Given the description of an element on the screen output the (x, y) to click on. 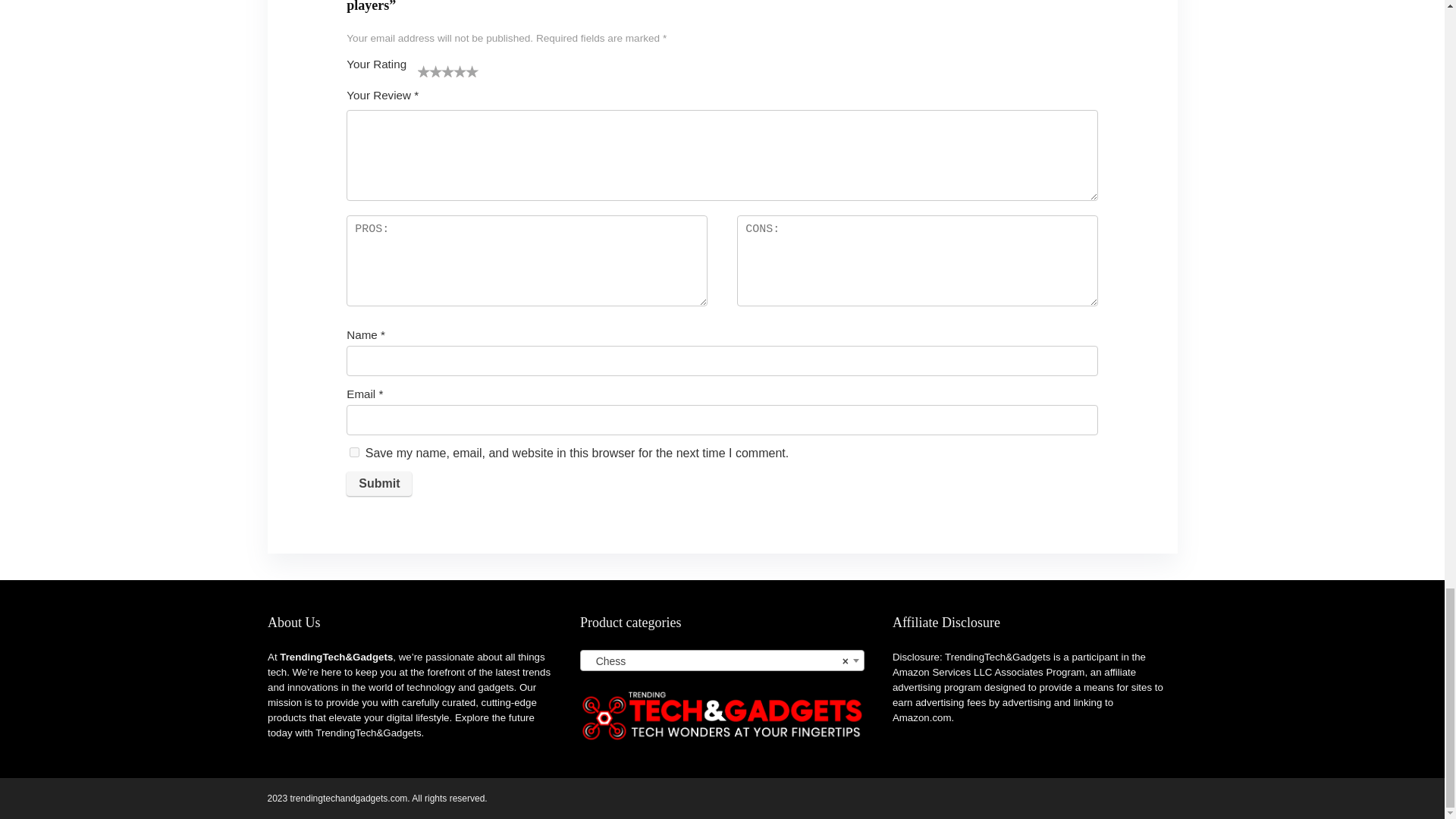
yes (354, 452)
Submit (379, 483)
